Given the description of an element on the screen output the (x, y) to click on. 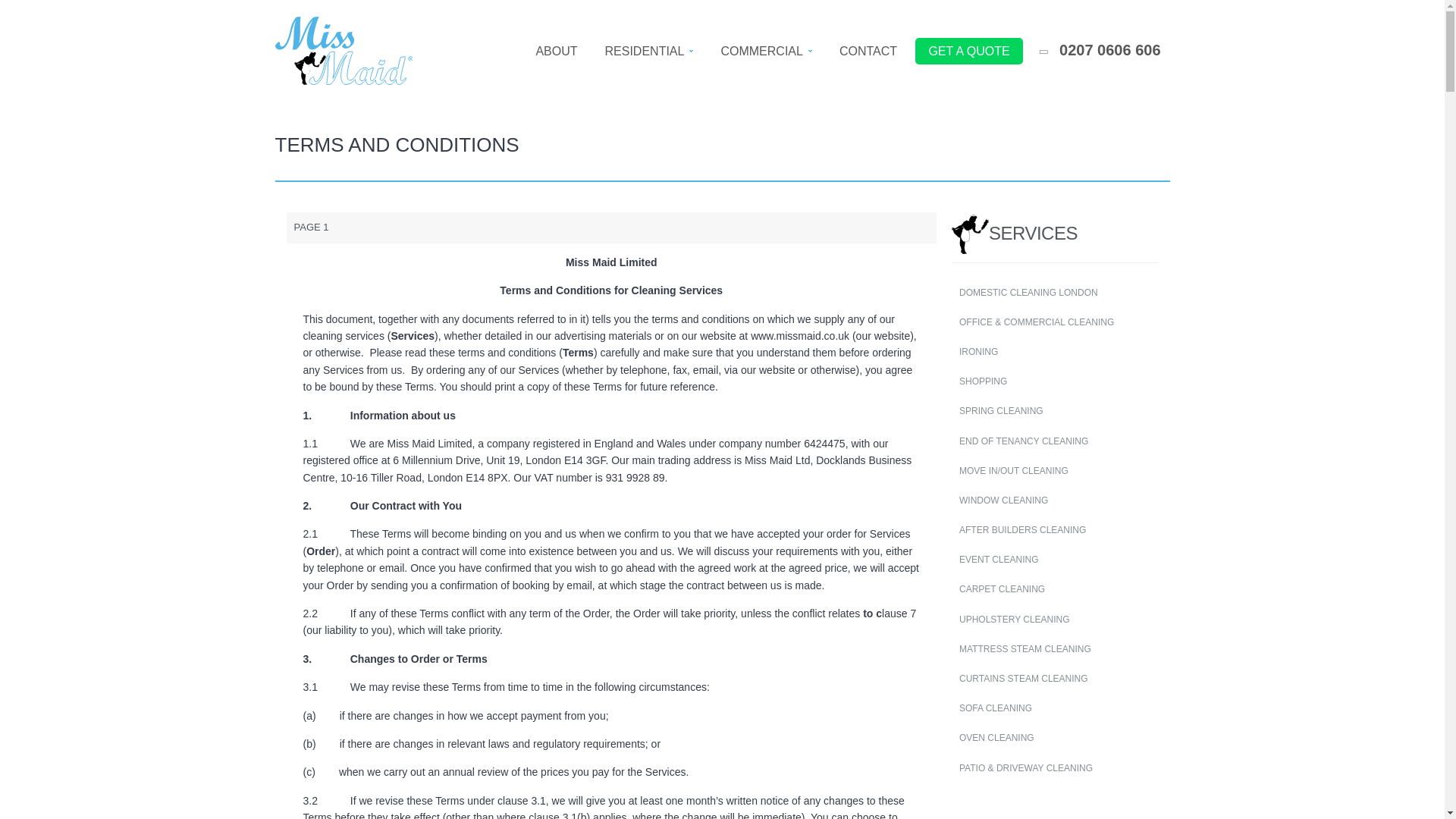
GET A QUOTE (968, 51)
RESIDENTIAL (649, 51)
0207 0606 606 (1100, 51)
Contact Us (868, 51)
PAGE 1 (611, 227)
SHOPPING (1055, 381)
IRONING (1055, 351)
SPRING CLEANING (1055, 410)
Book Now (968, 51)
COMMERCIAL (765, 51)
DOMESTIC CLEANING LONDON (1055, 292)
ABOUT (555, 51)
CONTACT (868, 51)
